Given the description of an element on the screen output the (x, y) to click on. 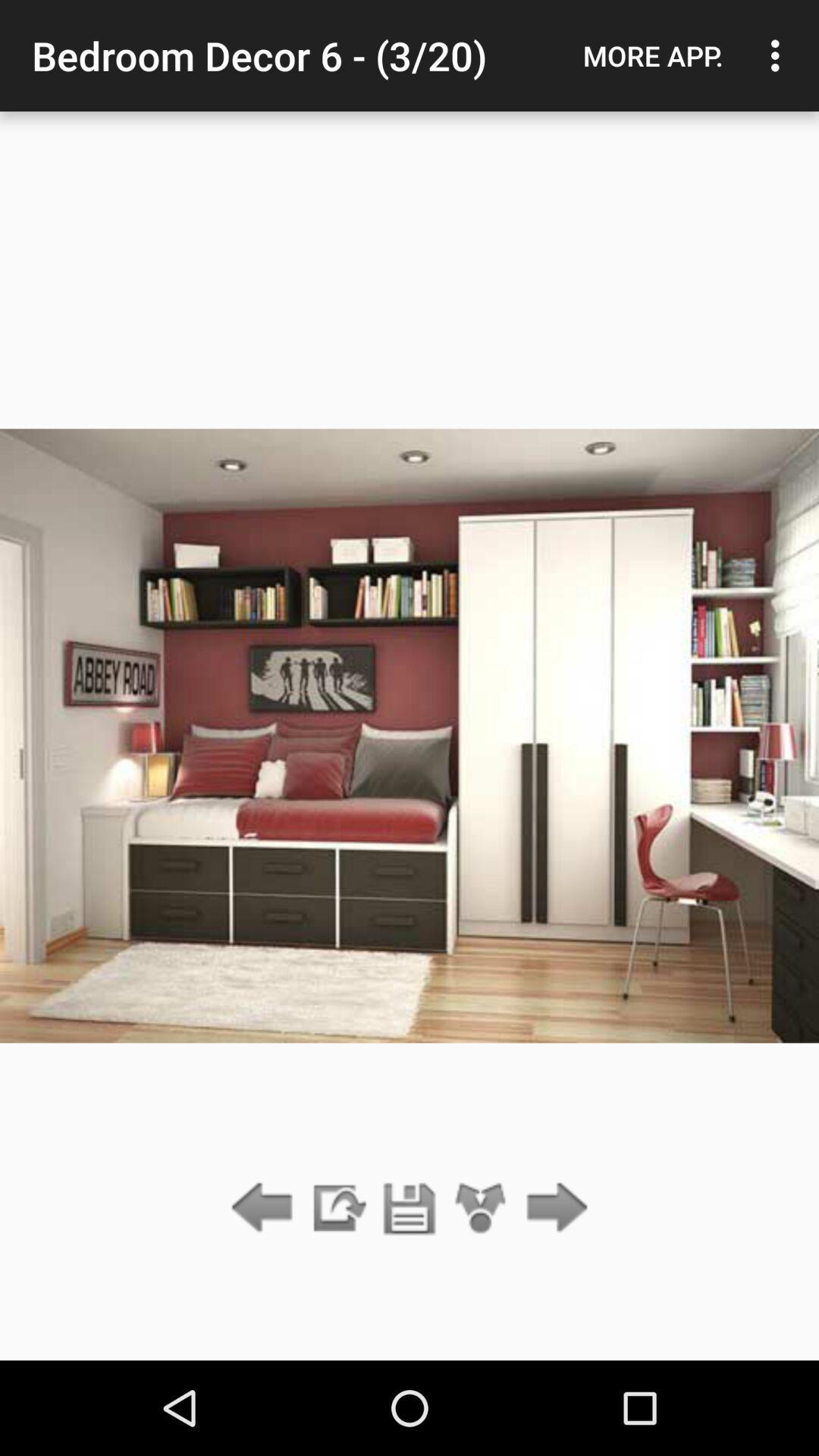
turn off the item next to more app. (779, 55)
